Given the description of an element on the screen output the (x, y) to click on. 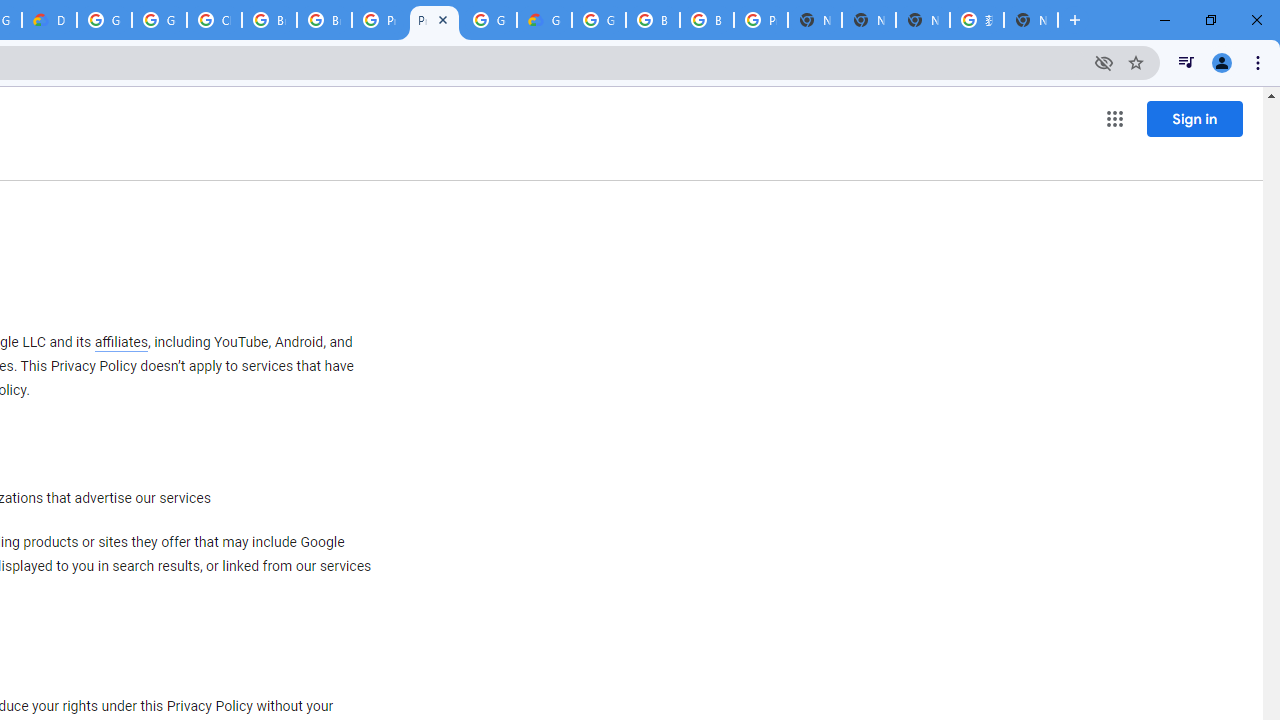
Google Cloud Platform (598, 20)
Google Cloud Platform (103, 20)
Google Cloud Platform (489, 20)
New Tab (815, 20)
Browse Chrome as a guest - Computer - Google Chrome Help (652, 20)
Browse Chrome as a guest - Computer - Google Chrome Help (268, 20)
Google Cloud Estimate Summary (544, 20)
